Given the description of an element on the screen output the (x, y) to click on. 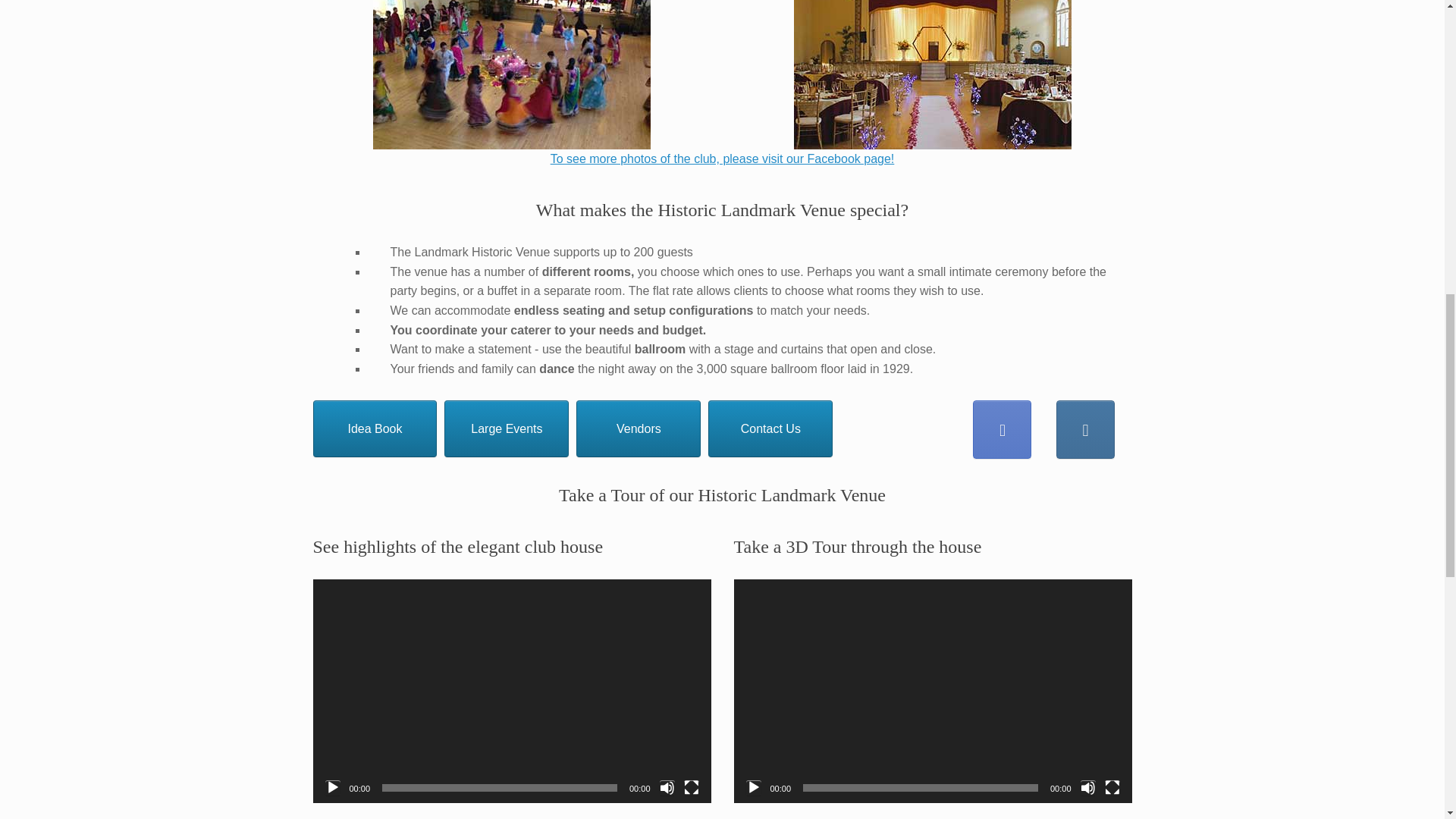
Large Events (506, 428)
Vendors (638, 428)
Mute (1087, 787)
Play (331, 787)
Idea Book (374, 428)
Fullscreen (691, 787)
San Jose Woman's Club Facebook (1001, 429)
Contact Us (769, 428)
Mute (667, 787)
Fullscreen (1111, 787)
San Jose Woman's Club Instagram (1086, 429)
Play (753, 787)
